Given the description of an element on the screen output the (x, y) to click on. 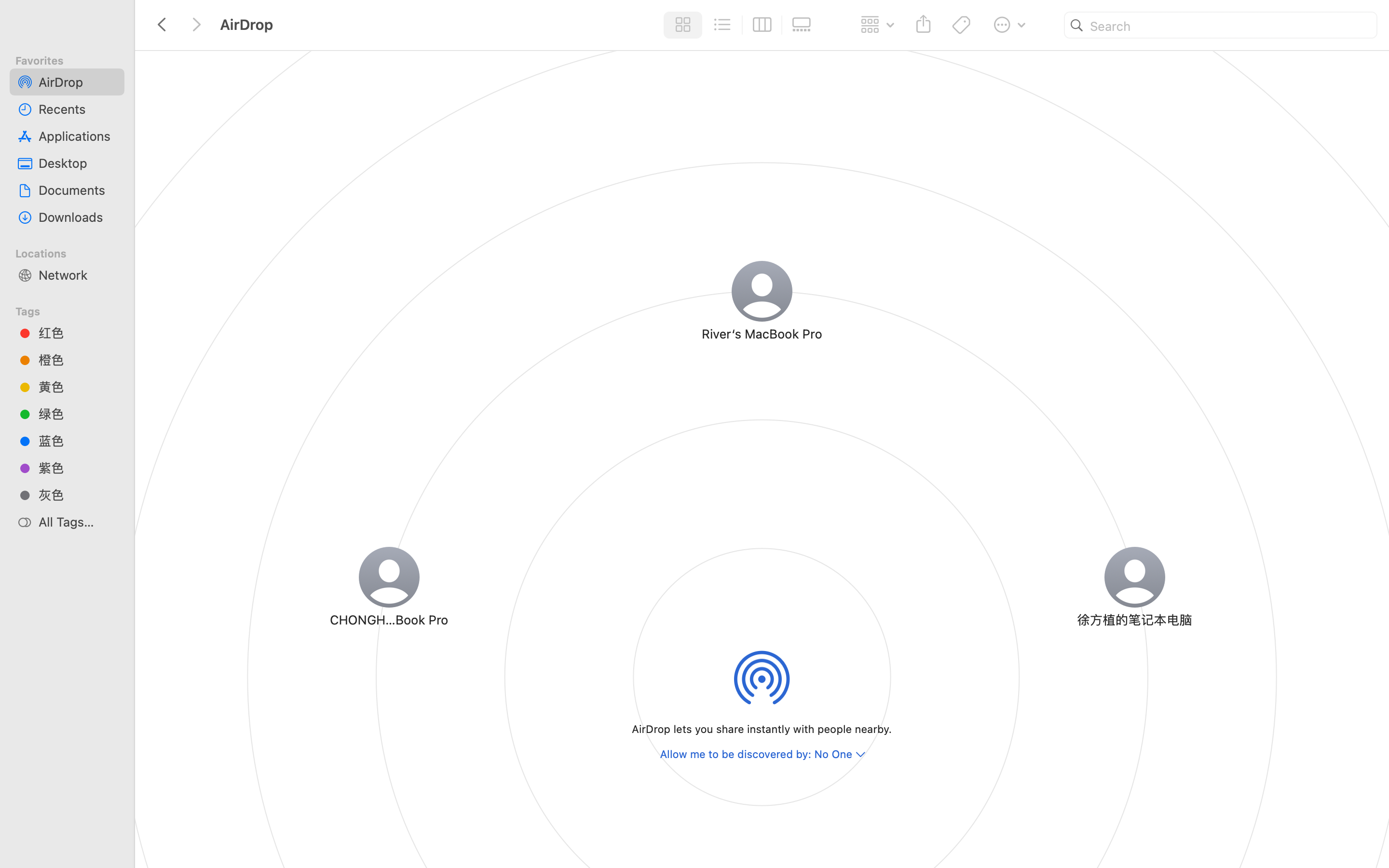
绿色 Element type: AXStaticText (77, 413)
Network Element type: AXStaticText (77, 274)
黄色 Element type: AXStaticText (77, 386)
CHONGHAO’s MacBook Pro Element type: AXStaticText (388, 618)
<AXUIElement 0x12552bdf0> {pid=510} Element type: AXRadioGroup (741, 24)
